Given the description of an element on the screen output the (x, y) to click on. 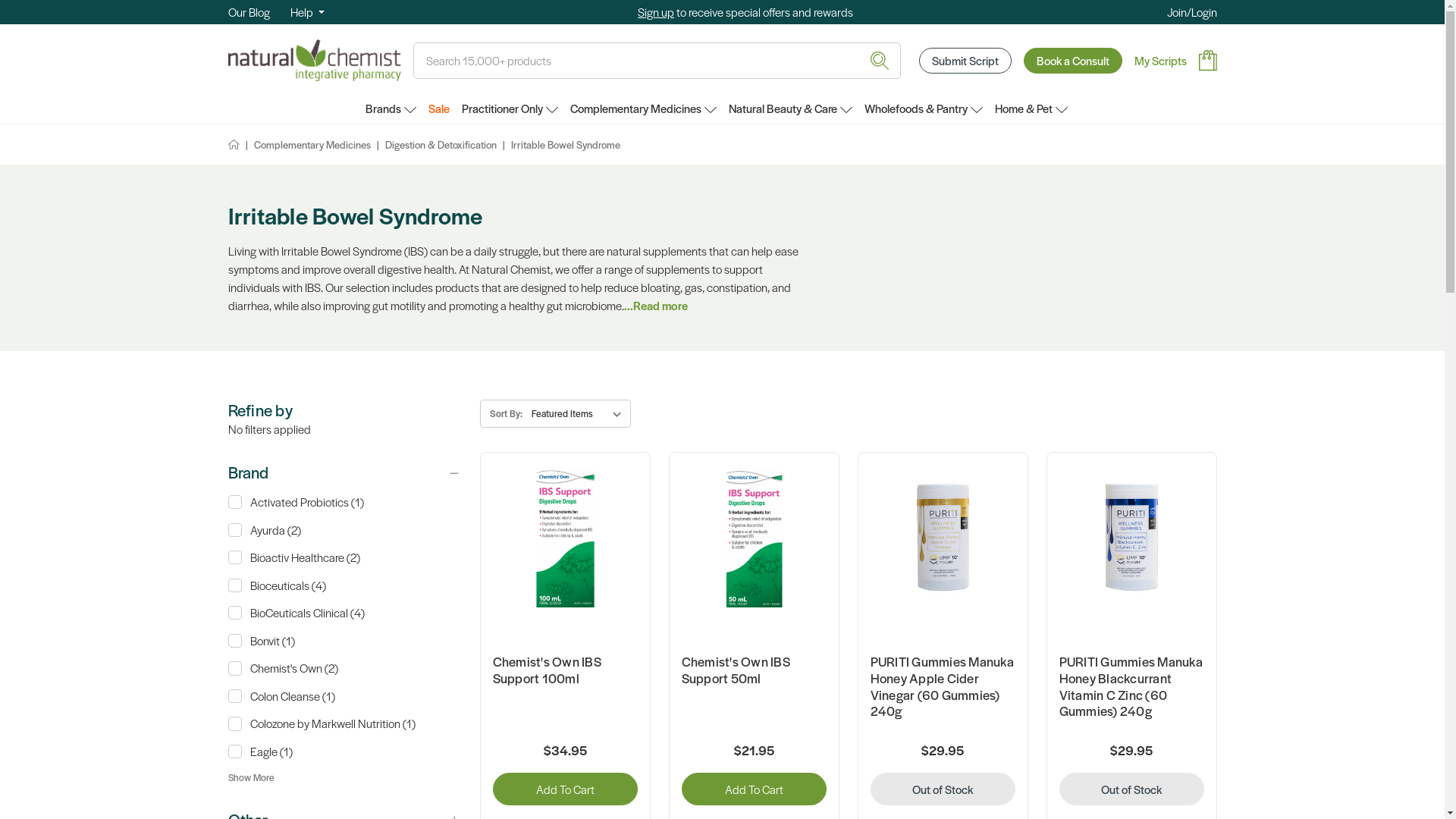
Wholefoods & Pantry Element type: text (923, 108)
Home & Pet Element type: text (1030, 108)
Chemist's Own IBS Support 50ml Element type: hover (754, 537)
Out of Stock Element type: text (942, 789)
BioCeuticals Clinical (4) Element type: text (344, 612)
Show More Element type: text (250, 776)
My Scripts Element type: text (1160, 60)
Irritable Bowel Syndrome Element type: text (565, 144)
Activated Probiotics (1) Element type: text (344, 502)
Book a Consult Element type: text (1072, 60)
Sign up Element type: text (655, 11)
Join/Login Element type: text (1191, 11)
Chemist's Own IBS Support 100ml Element type: text (564, 669)
Help Element type: text (306, 11)
Our Blog Element type: text (248, 11)
Bioceuticals (4) Element type: text (344, 584)
Chemist's Own IBS Support 100ml Element type: hover (564, 537)
Colozone by Markwell Nutrition (1) Element type: text (344, 723)
Natural Chemist Element type: hover (313, 59)
Brands Element type: text (390, 108)
Complementary Medicines Element type: text (311, 144)
Submit Script Element type: text (965, 60)
Ayurda (2) Element type: text (344, 529)
Natural Beauty & Care Element type: text (789, 108)
Chemist's Own IBS Support 50ml Element type: text (752, 669)
Add To Cart Element type: text (752, 789)
Complementary Medicines Element type: text (643, 108)
Sale Element type: text (437, 108)
Practitioner Only Element type: text (509, 108)
Bioactiv Healthcare (2) Element type: text (344, 557)
Eagle (1) Element type: text (344, 751)
Brand Element type: text (344, 471)
Chemist's Own (2) Element type: text (344, 668)
Colon Cleanse (1) Element type: text (344, 695)
Bonvit (1) Element type: text (344, 640)
Out of Stock Element type: text (1130, 789)
Add To Cart Element type: text (564, 789)
Digestion & Detoxification Element type: text (440, 144)
